Given the description of an element on the screen output the (x, y) to click on. 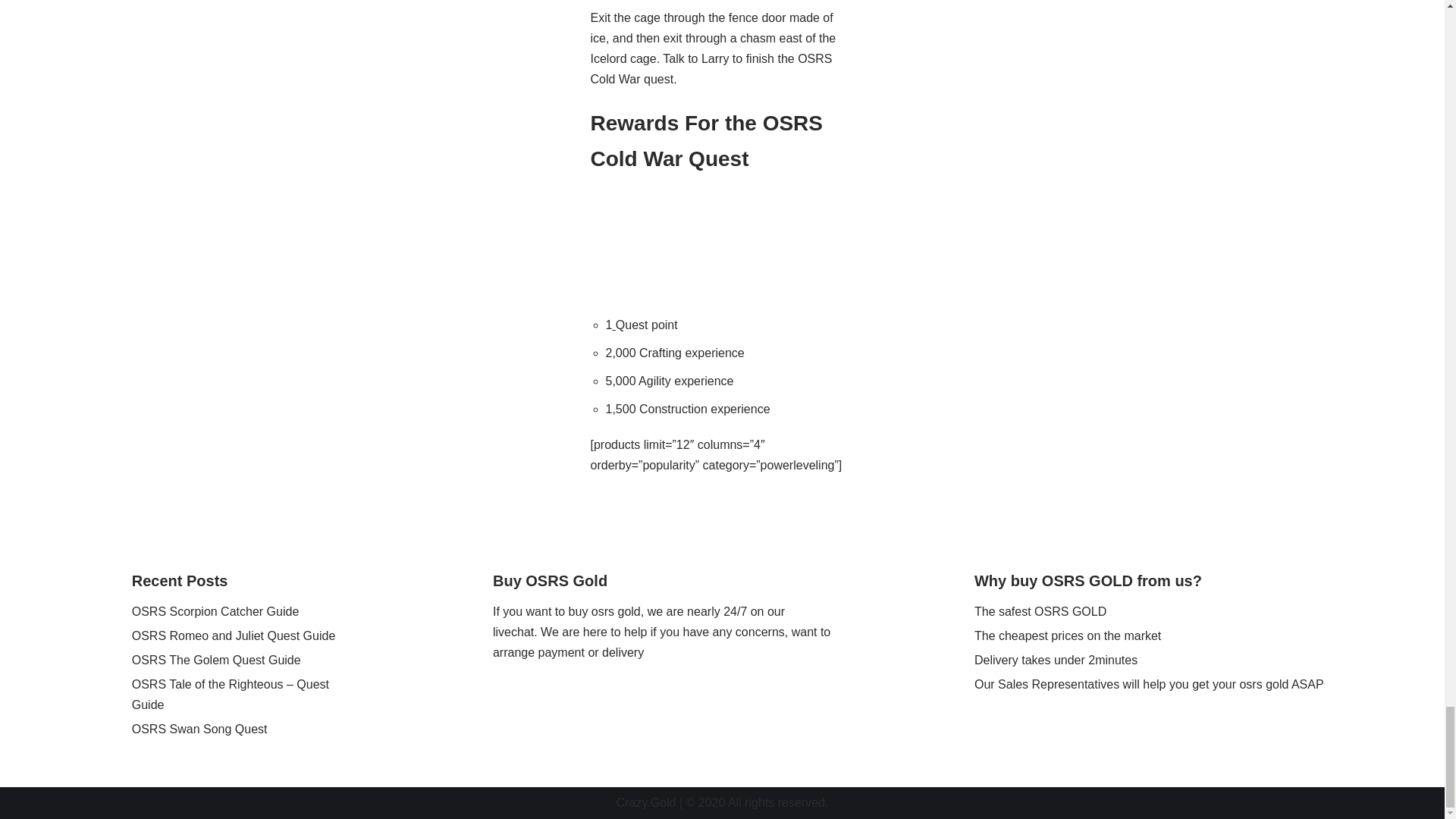
OSRS Romeo and Juliet Quest Guide (234, 635)
OSRS Swan Song Quest (199, 728)
OSRS Scorpion Catcher Guide (215, 611)
buy osrs gold (604, 611)
OSRS The Golem Quest Guide (216, 659)
Crazy.Gold (646, 802)
